Given the description of an element on the screen output the (x, y) to click on. 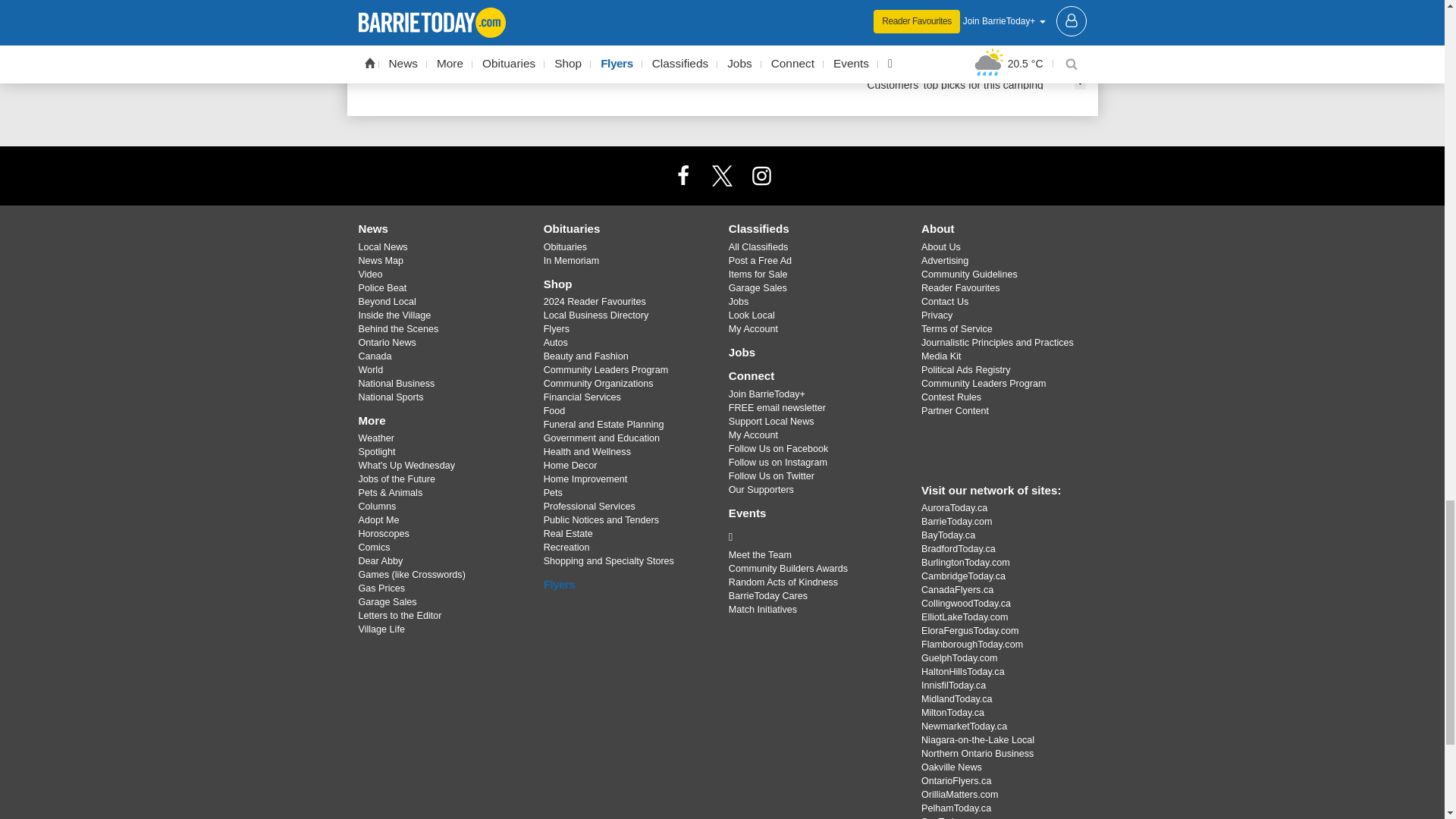
X (721, 174)
Facebook (683, 174)
BarrieToday Cares (813, 536)
Instagram (760, 174)
